Given the description of an element on the screen output the (x, y) to click on. 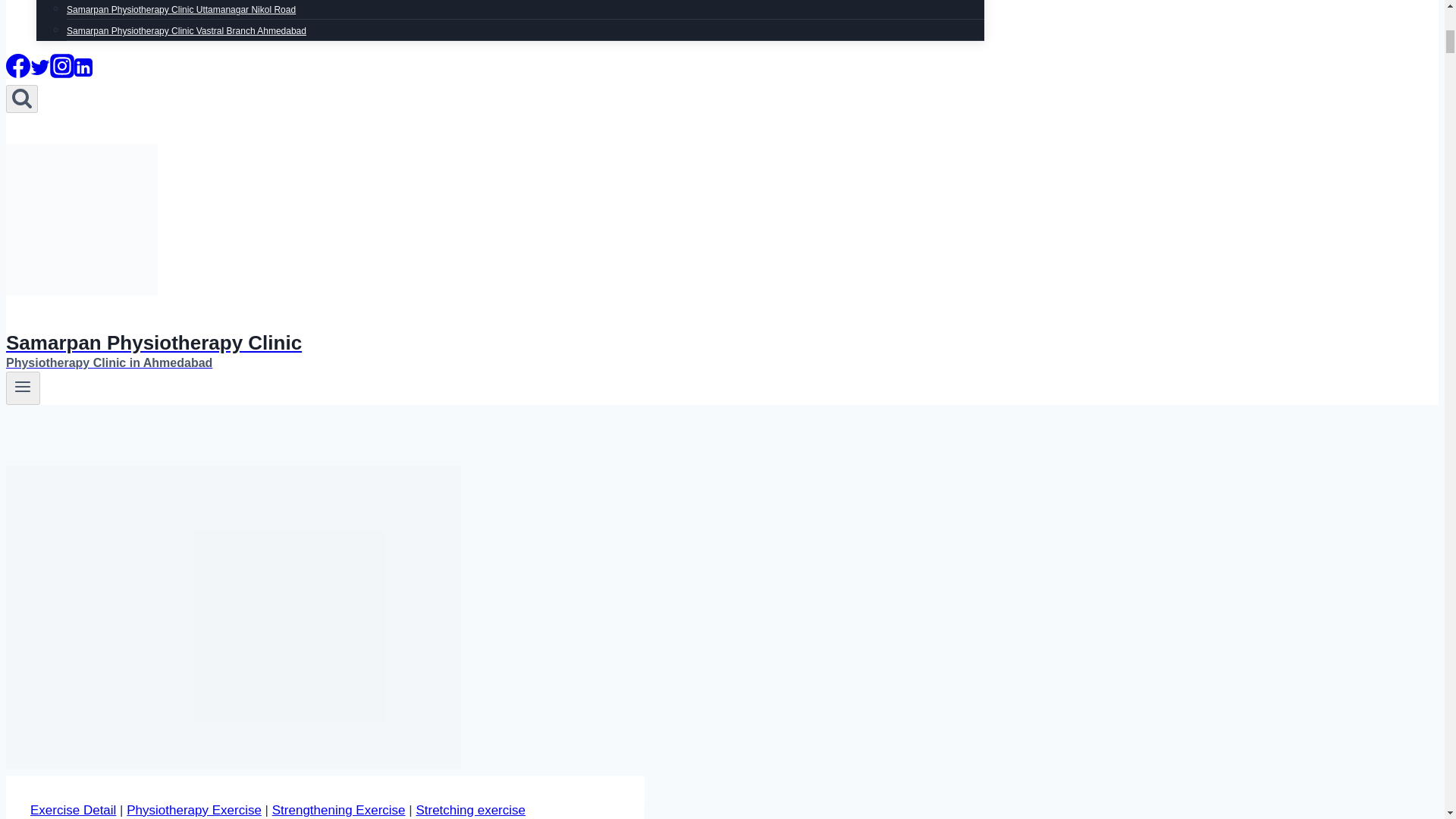
Physiotherapy Clinic Near Rabari Colony Char Rasta (172, 1)
Search (21, 97)
Twitter (39, 73)
Facebook (17, 73)
Physiotherapy Exercise (194, 810)
Toggle Menu (22, 387)
Twitter (39, 66)
Samarpan Physiotherapy Clinic Vastral Branch Ahmedabad (185, 30)
Strengthening Exercise (339, 810)
